Given the description of an element on the screen output the (x, y) to click on. 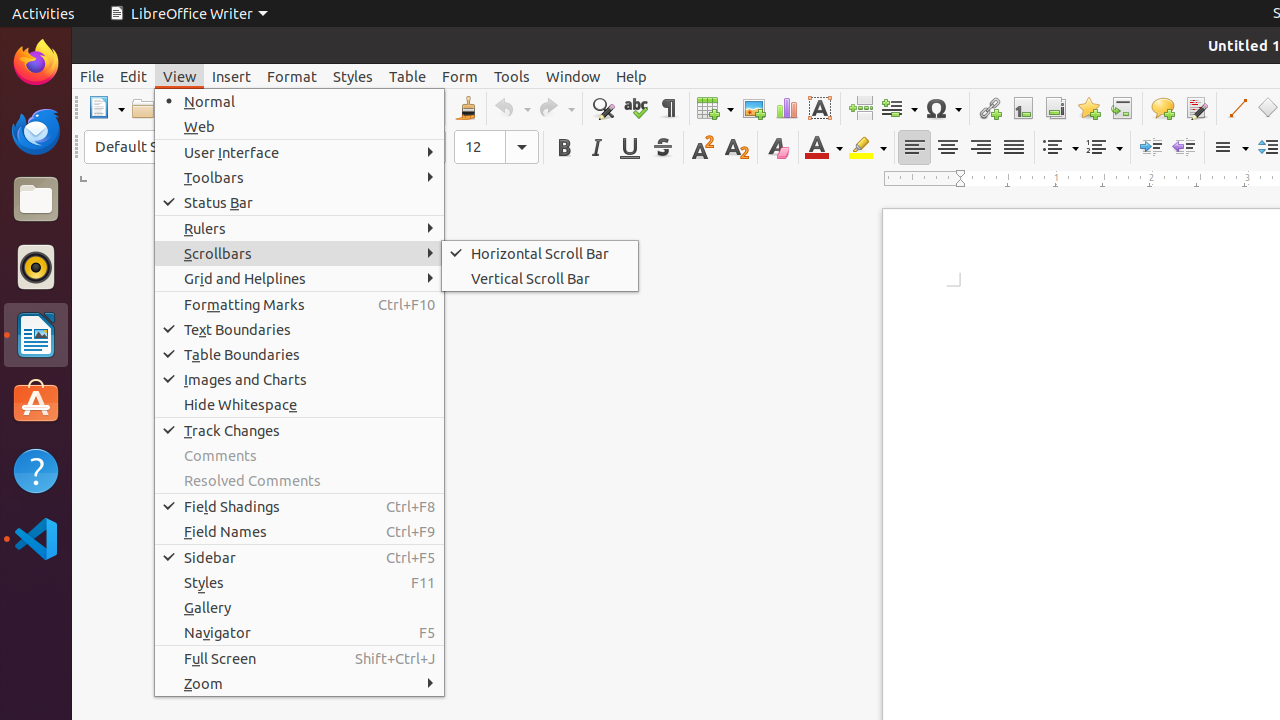
Thunderbird Mail Element type: push-button (36, 131)
LibreOffice Writer Element type: push-button (36, 334)
Formatting Marks Element type: check-menu-item (299, 304)
Bookmark Element type: push-button (1088, 108)
Tools Element type: menu (512, 76)
